Given the description of an element on the screen output the (x, y) to click on. 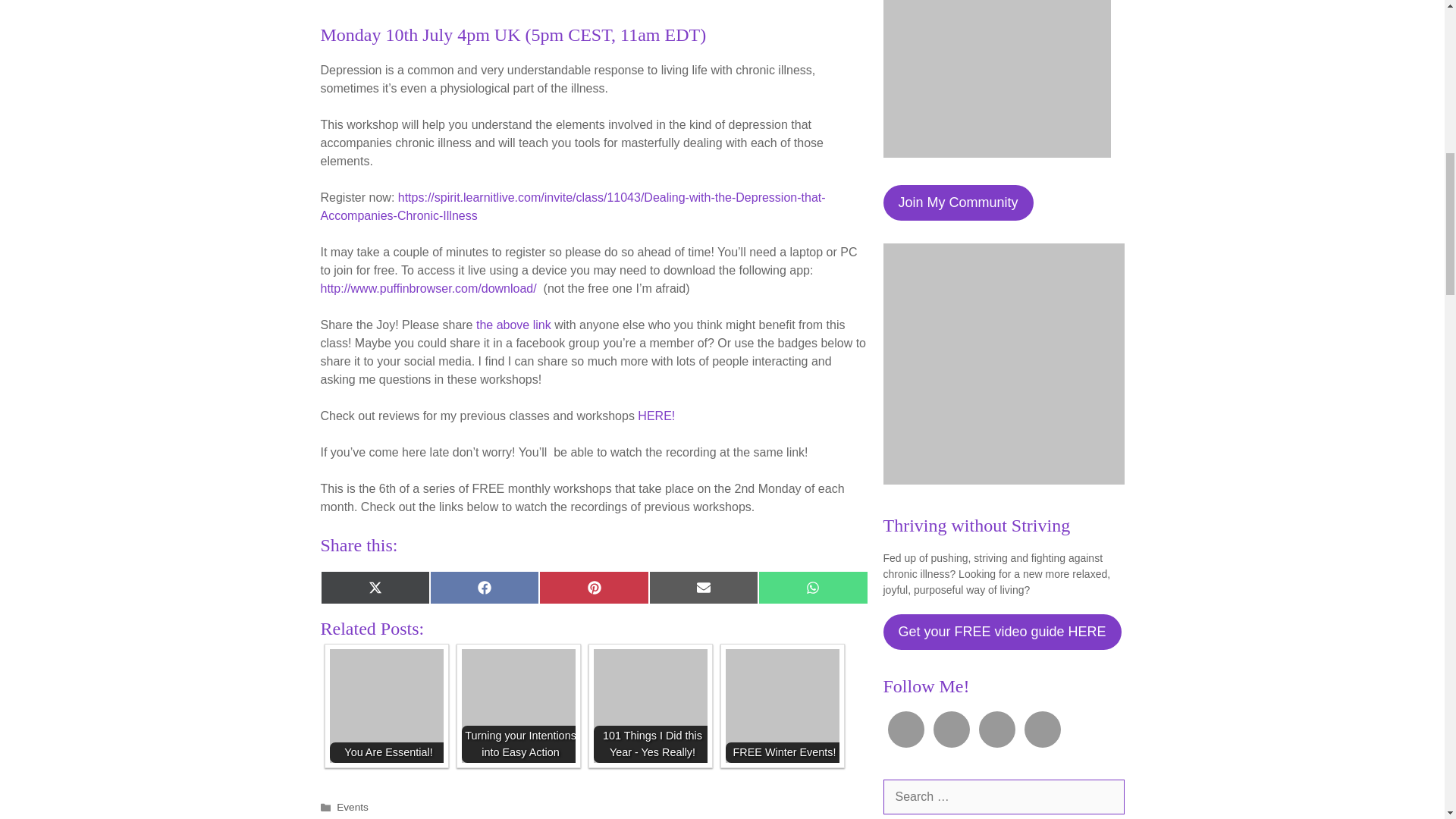
Share on WhatsApp (812, 587)
HERE! (656, 415)
You Are Essential! (385, 705)
101 Things I Did this Year - Yes Really! (649, 705)
Share on Pinterest (592, 587)
Events (352, 807)
Turning your Intentions into Easy Action (518, 705)
Share on E-mail (703, 587)
101 Things I Did this Year - Yes Really! (649, 705)
the above link (513, 324)
Turning your Intentions into Easy Action (518, 705)
FREE Winter Events! (781, 705)
You Are Essential! (385, 705)
Search for: (1003, 796)
Join My Community (957, 202)
